Given the description of an element on the screen output the (x, y) to click on. 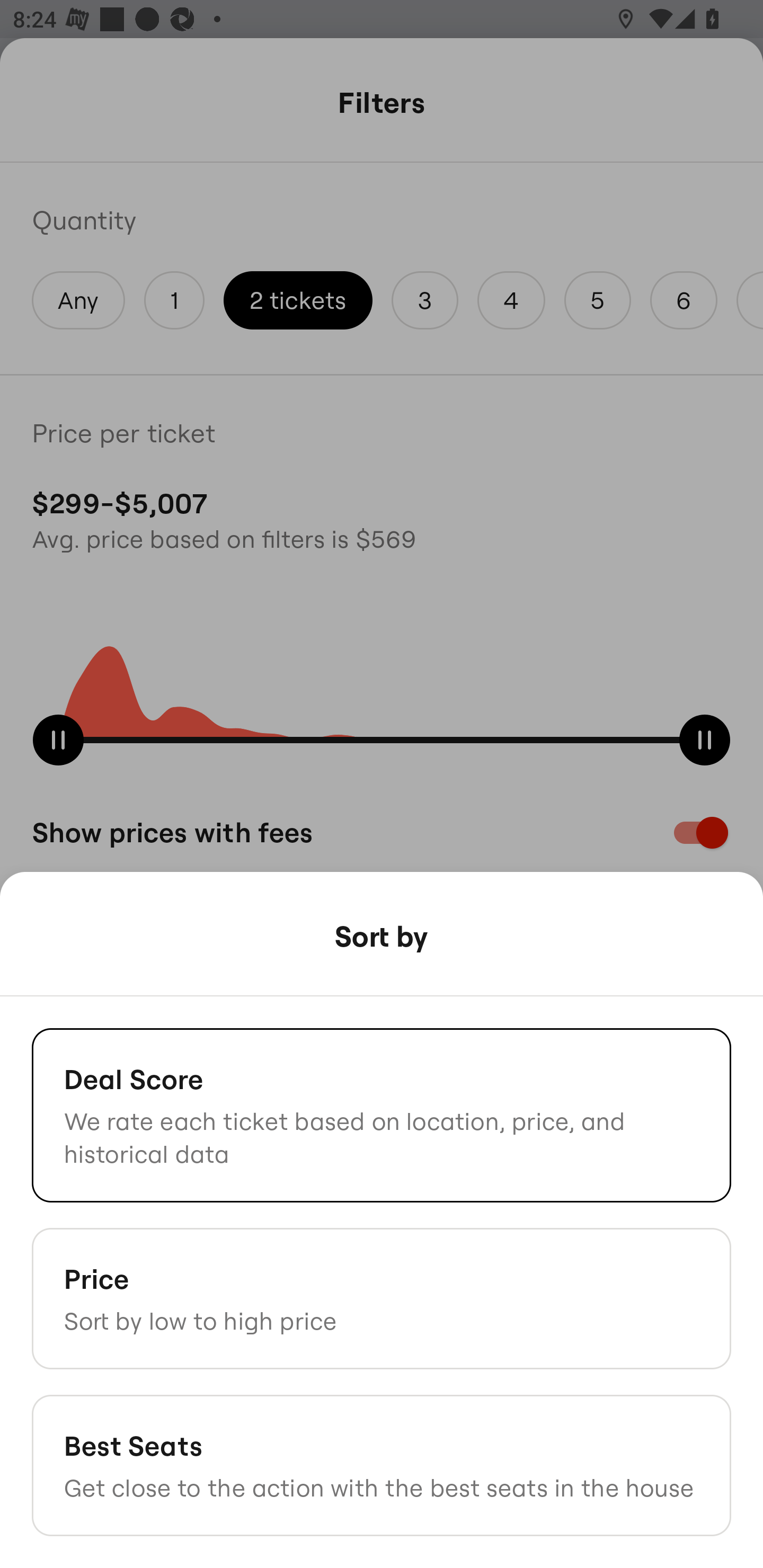
Price Sort by low to high price (381, 1297)
